Given the description of an element on the screen output the (x, y) to click on. 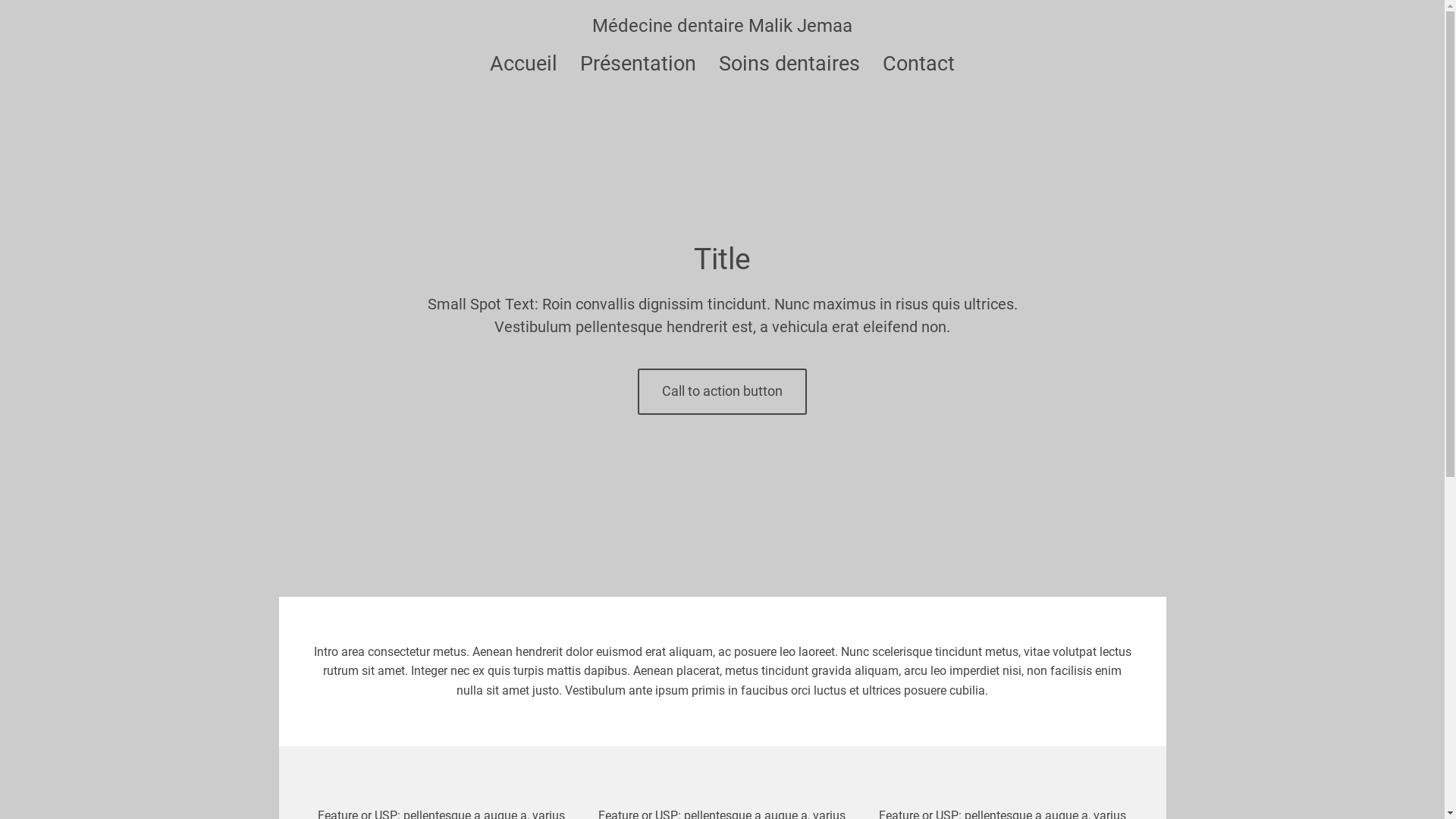
Soins dentaires Element type: text (788, 64)
Contact Element type: text (918, 64)
Call to action button Element type: text (721, 391)
Accueil Element type: text (523, 64)
